Given the description of an element on the screen output the (x, y) to click on. 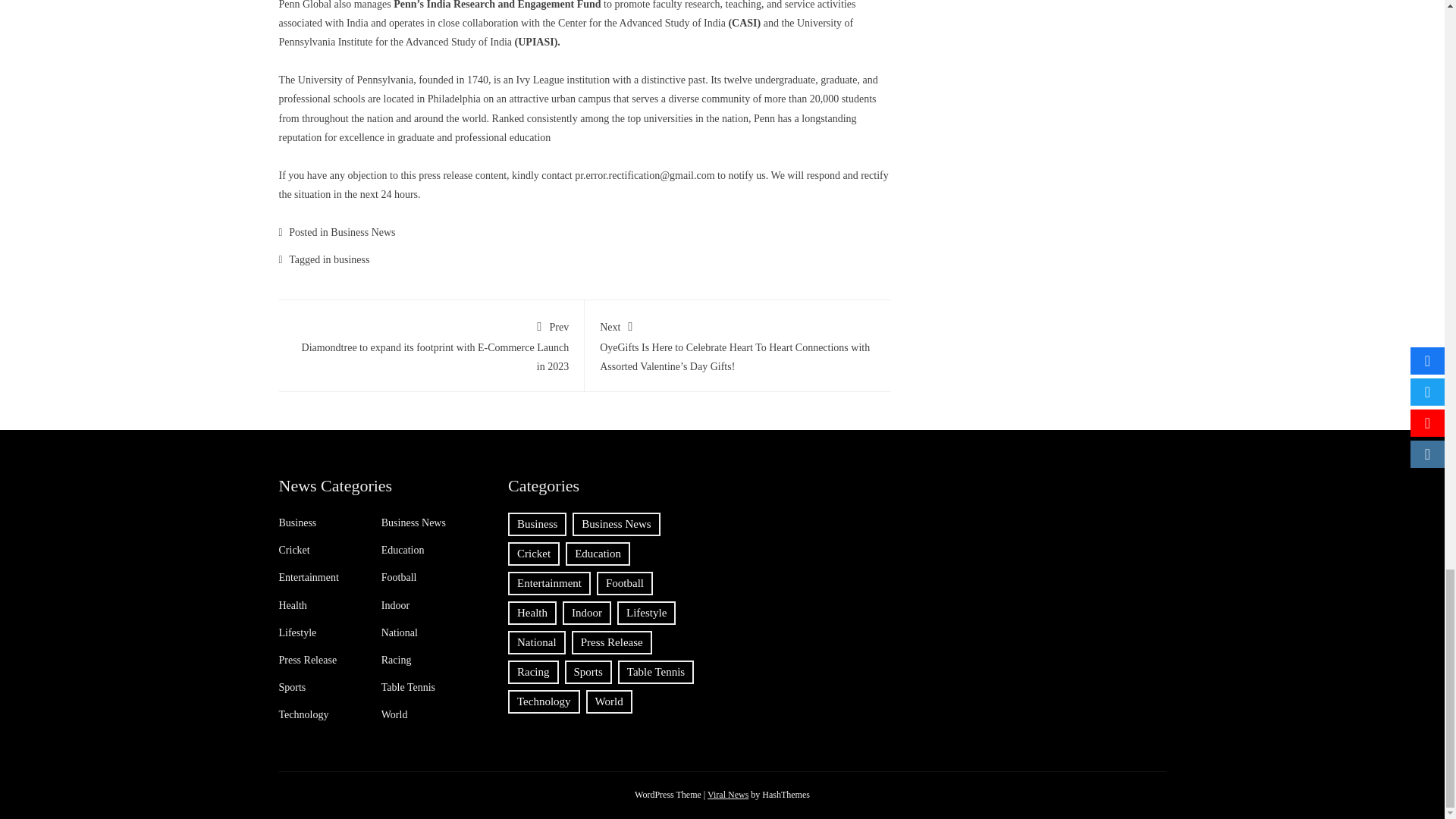
Business News (362, 232)
Download Viral News (727, 794)
business (351, 259)
